Given the description of an element on the screen output the (x, y) to click on. 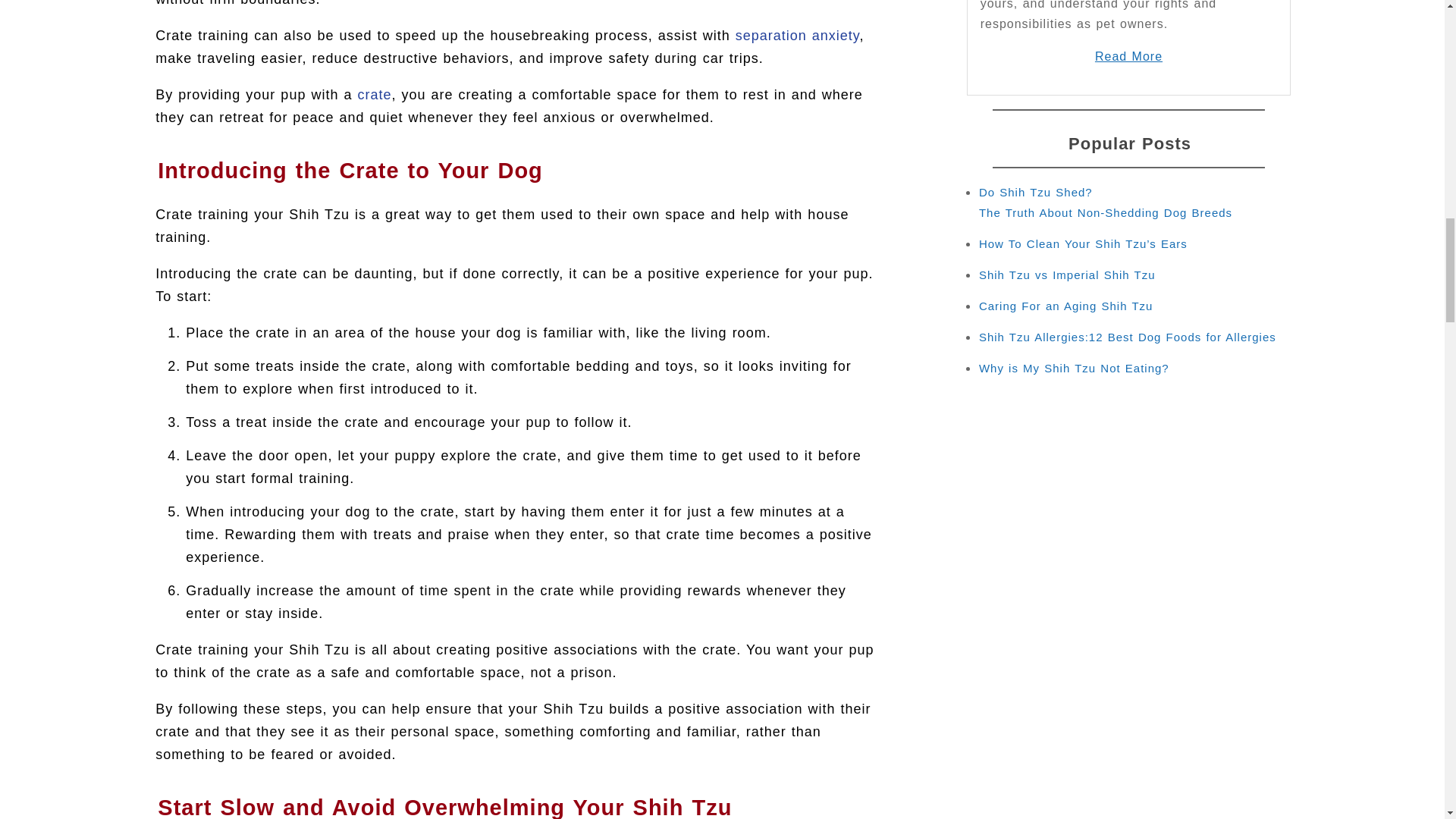
crate (373, 93)
separation anxiety (797, 34)
